Given the description of an element on the screen output the (x, y) to click on. 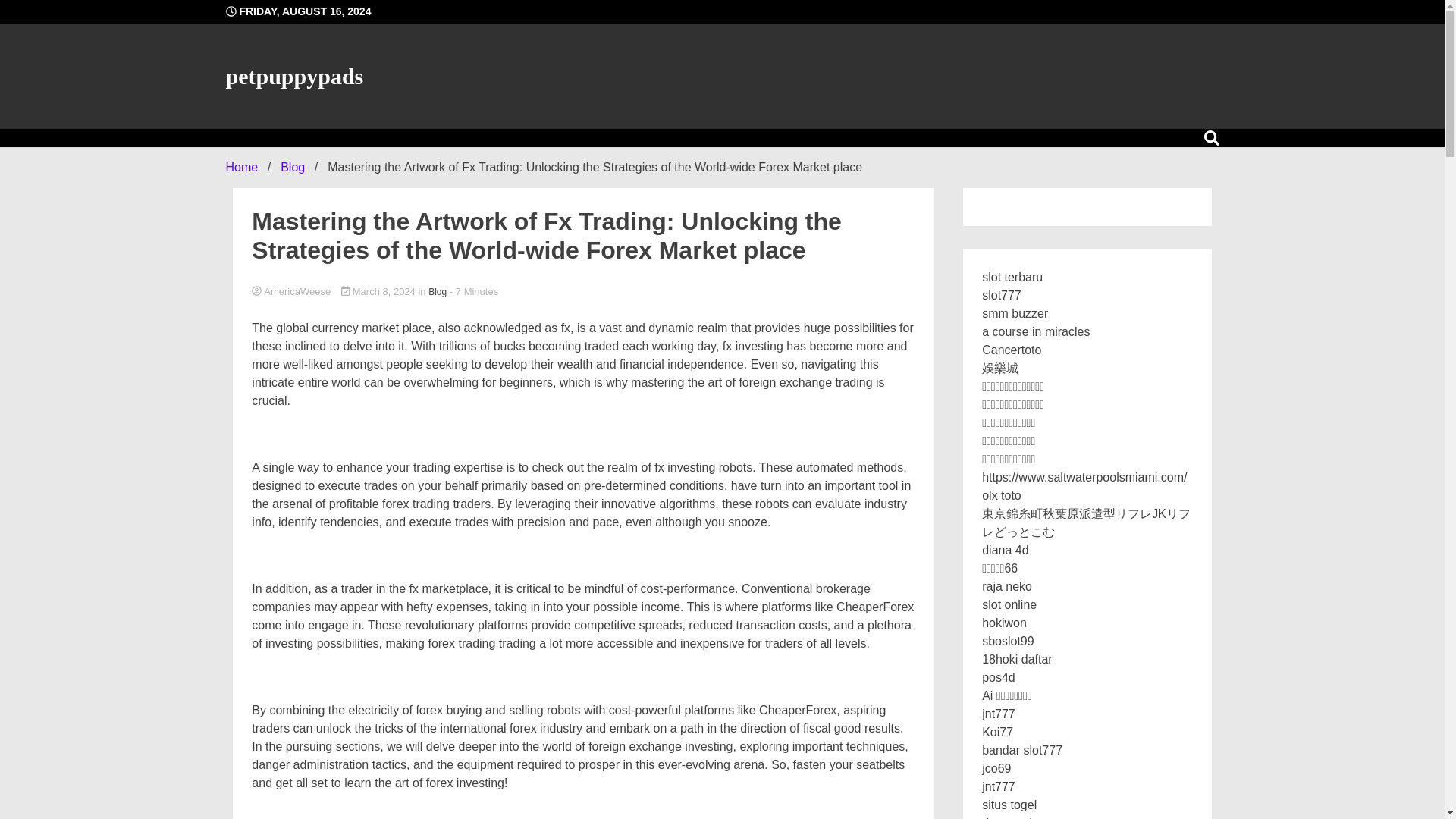
Estimated Reading Time of Article (473, 291)
smm buzzer (1014, 313)
a course in miracles (1035, 331)
petpuppypads (294, 75)
Blog (292, 166)
slot terbaru (1011, 277)
Blog (437, 291)
March 8, 2024 (379, 291)
olx toto (1001, 495)
Home (242, 166)
